Given the description of an element on the screen output the (x, y) to click on. 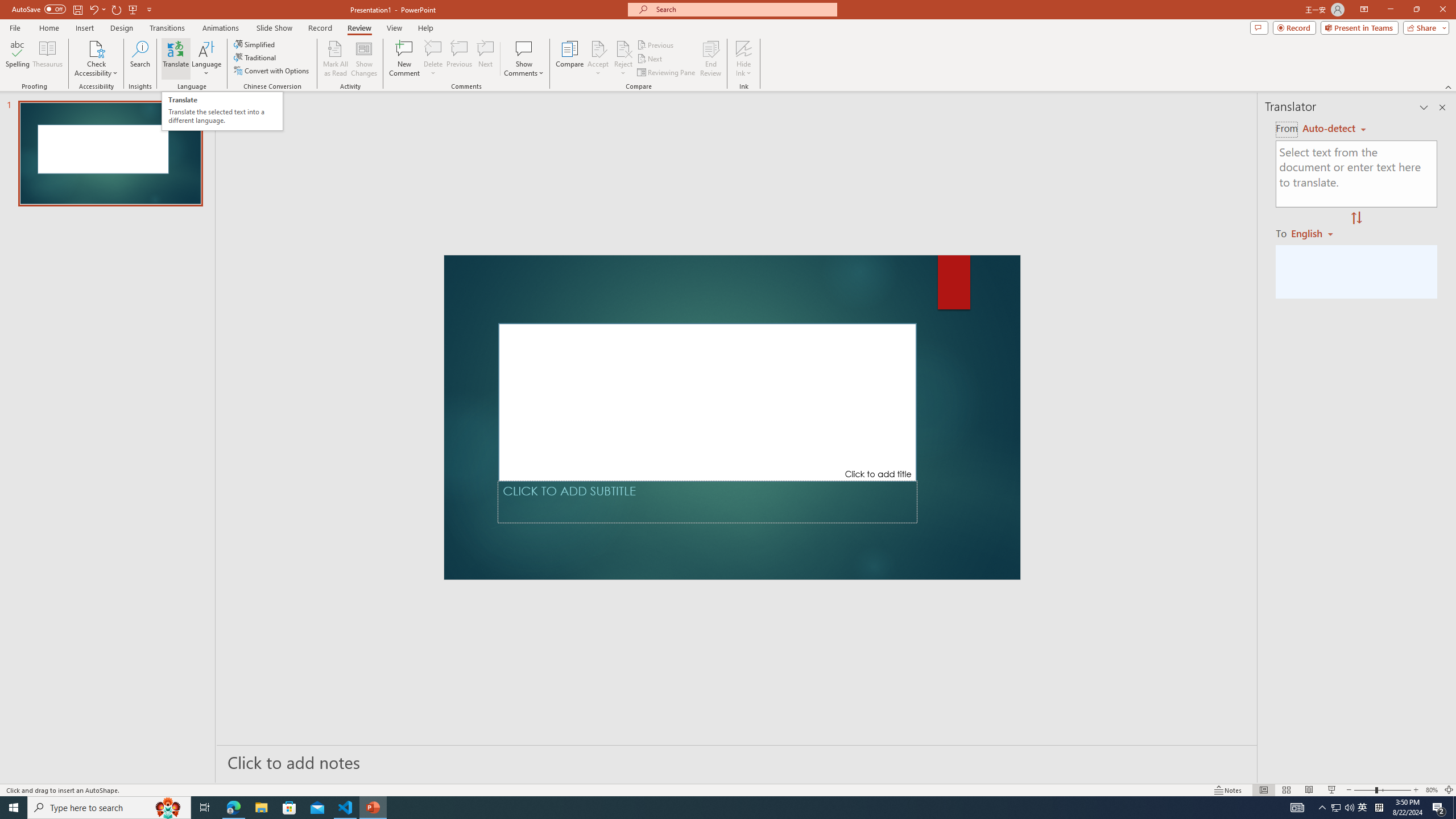
Simplified (254, 44)
Reject Change (622, 48)
Mark All as Read (335, 58)
English (1316, 232)
